Given the description of an element on the screen output the (x, y) to click on. 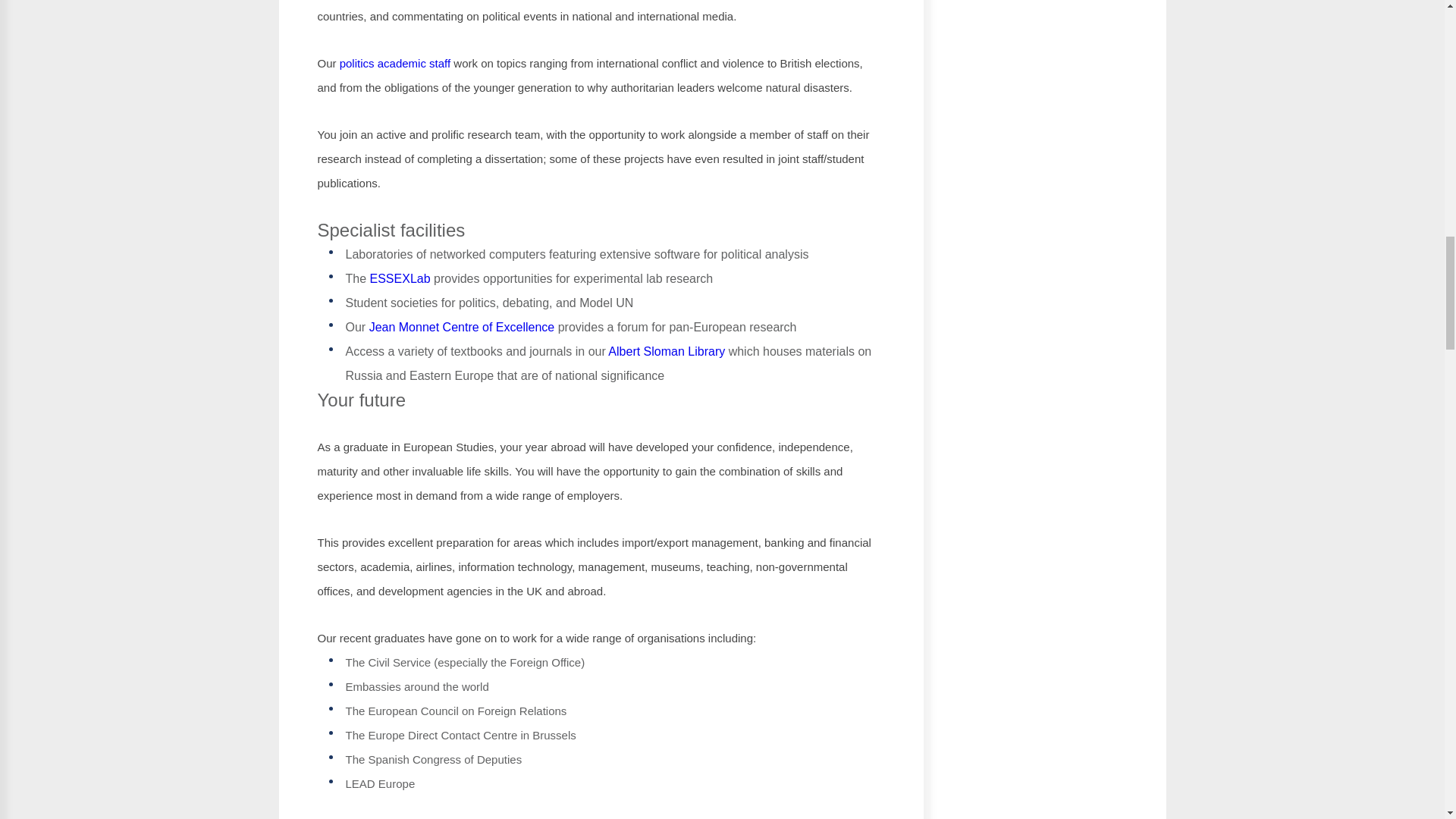
ESSEXLab (399, 278)
politics academic staff (394, 62)
Jean Monnet Centre of Excellence (461, 327)
Albert Sloman Library (666, 350)
